Given the description of an element on the screen output the (x, y) to click on. 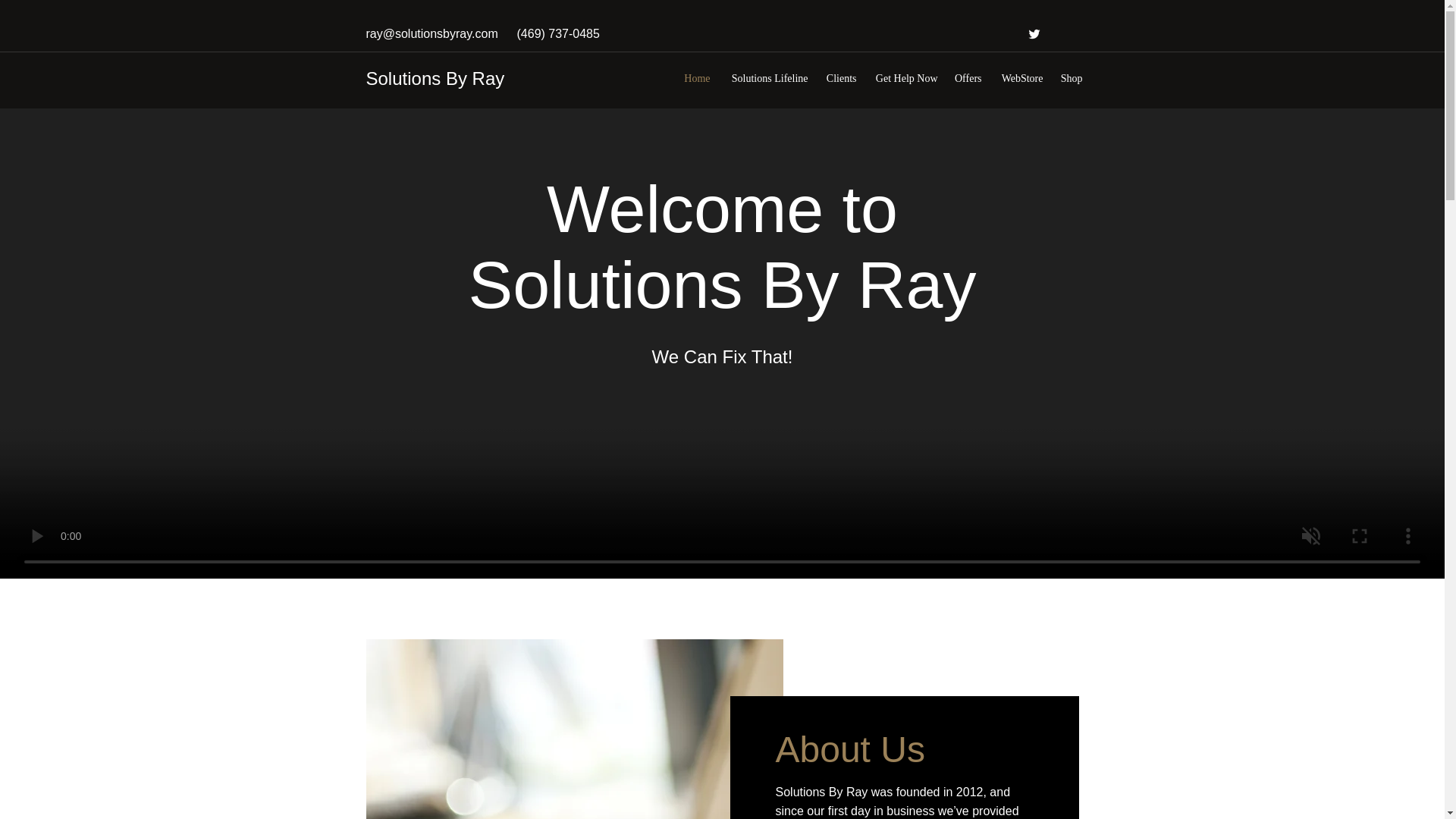
WebStore (1018, 78)
Home (694, 78)
Clients (839, 78)
Get Help Now (904, 78)
Computers (574, 729)
Solutions Lifeline (766, 78)
Offers (966, 78)
Shop (1070, 78)
